Given the description of an element on the screen output the (x, y) to click on. 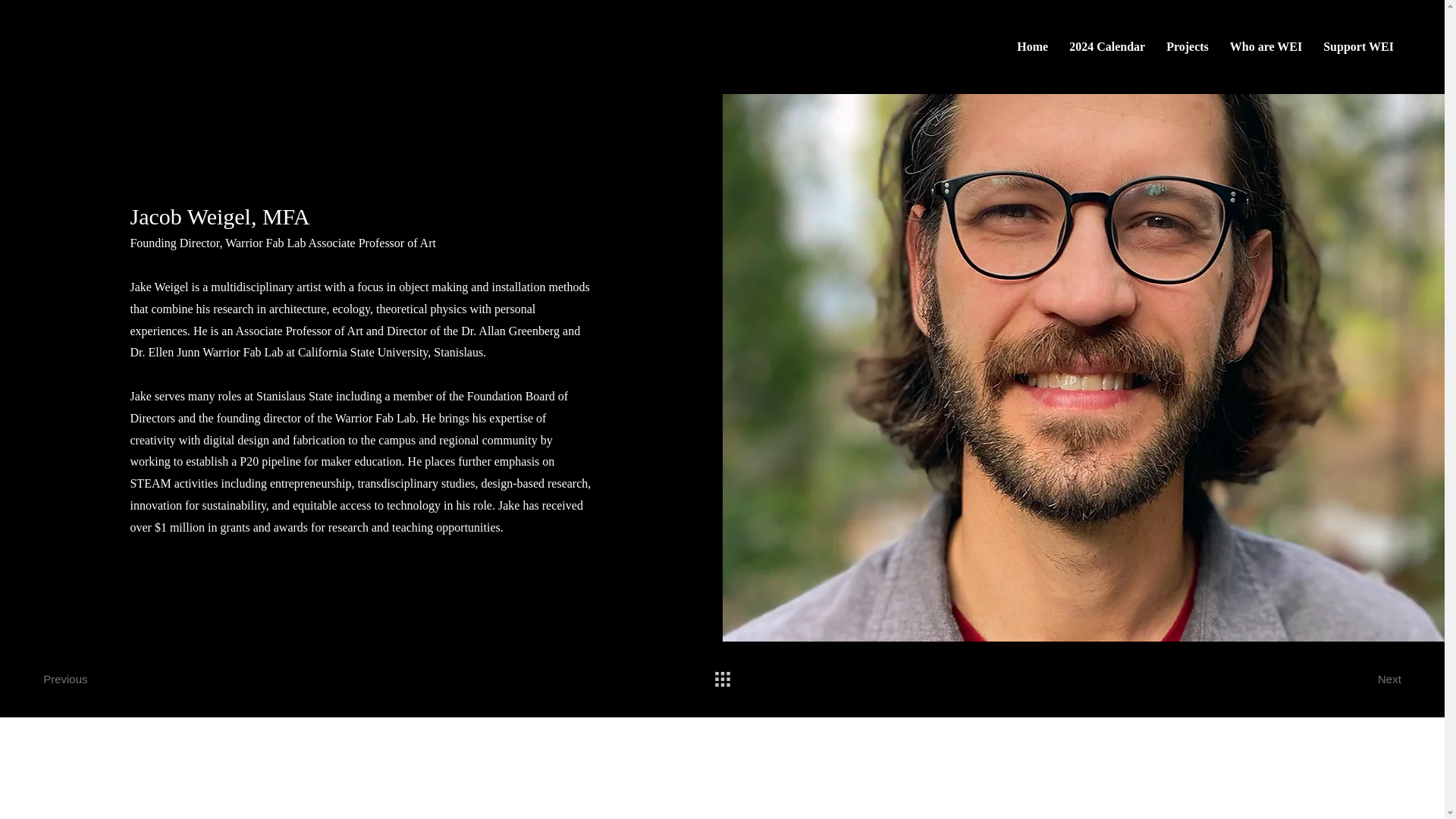
Home (970, 46)
Projects (1032, 46)
2024 Calendar (1186, 46)
Next (1107, 46)
Previous (1370, 678)
Support WEI (73, 678)
